Given the description of an element on the screen output the (x, y) to click on. 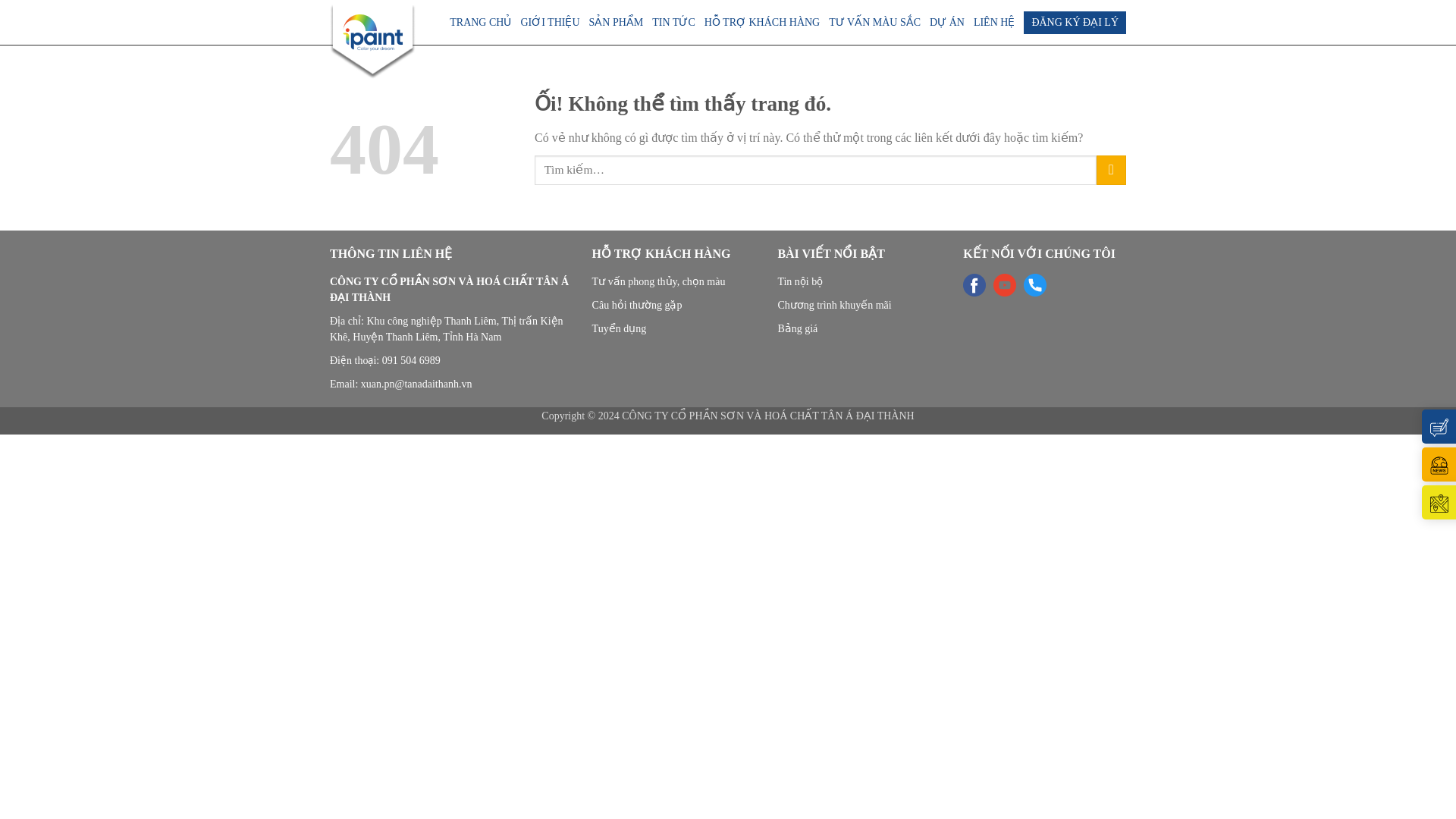
091 504 6989 (411, 360)
